Given the description of an element on the screen output the (x, y) to click on. 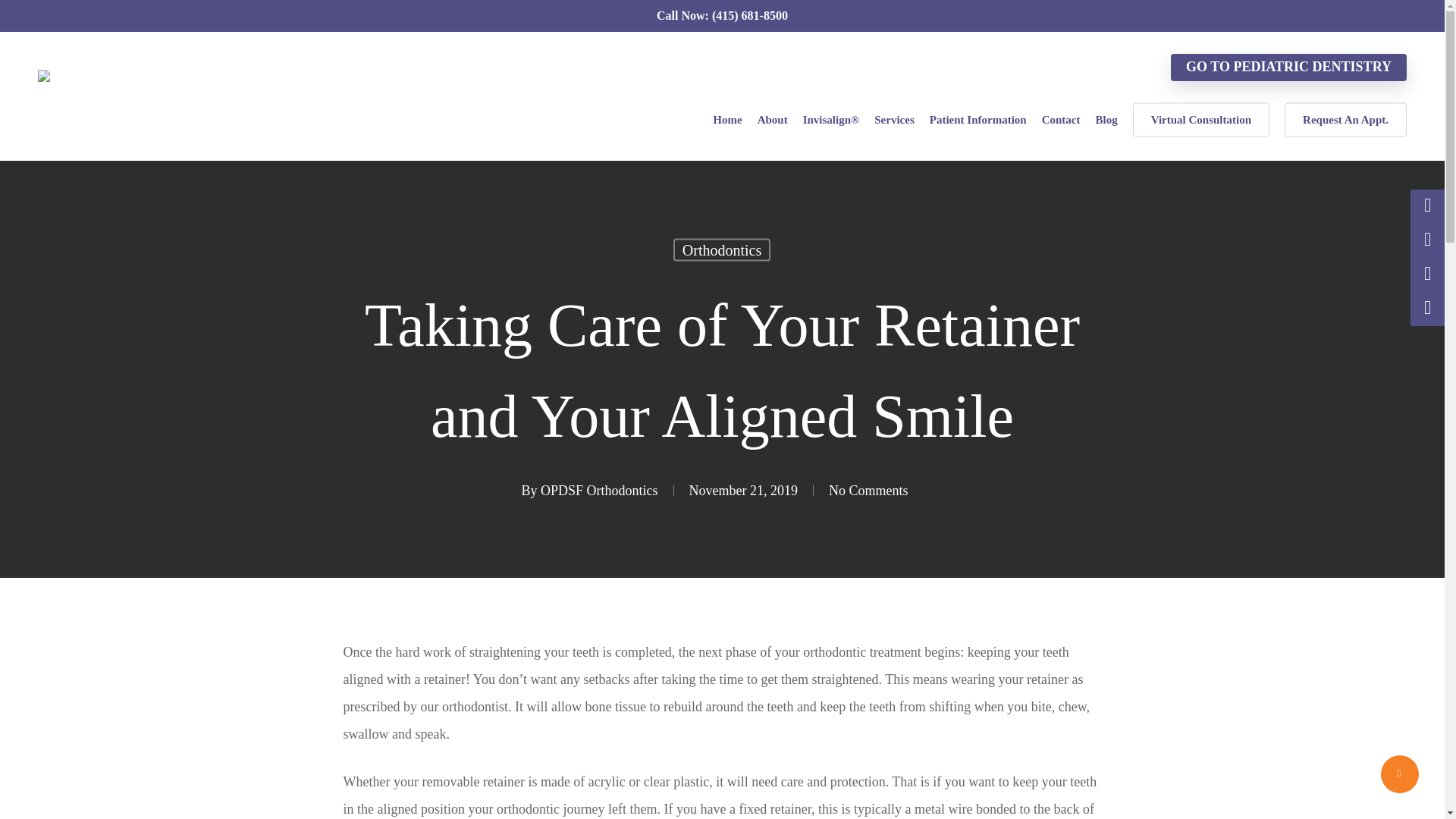
Posts by OPDSF Orthodontics (599, 489)
Home (727, 119)
GO TO PEDIATRIC DENTISTRY (1288, 67)
Patient Information (978, 119)
About (772, 119)
Services (894, 119)
